Given the description of an element on the screen output the (x, y) to click on. 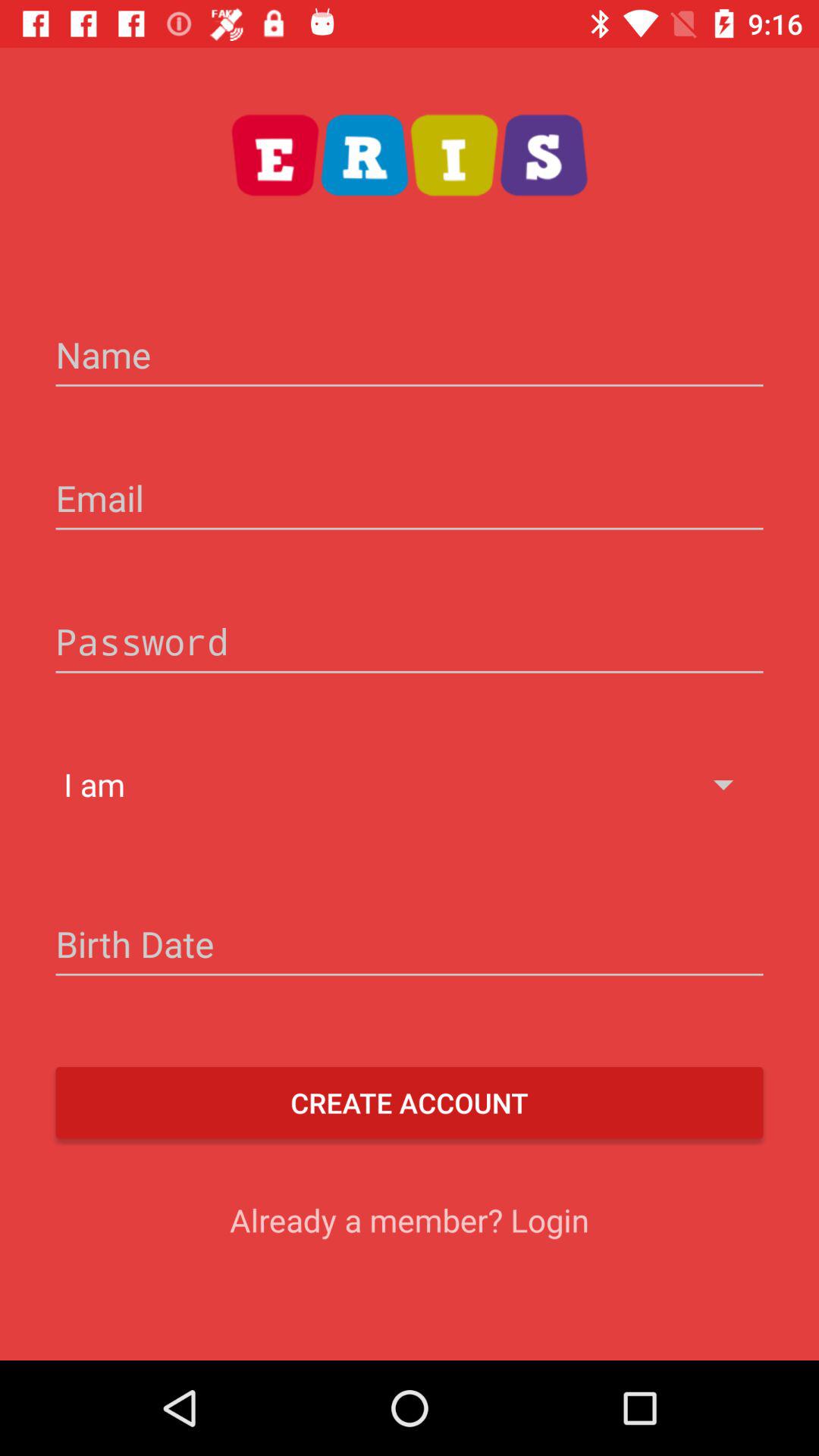
flip until the create account icon (409, 1102)
